Given the description of an element on the screen output the (x, y) to click on. 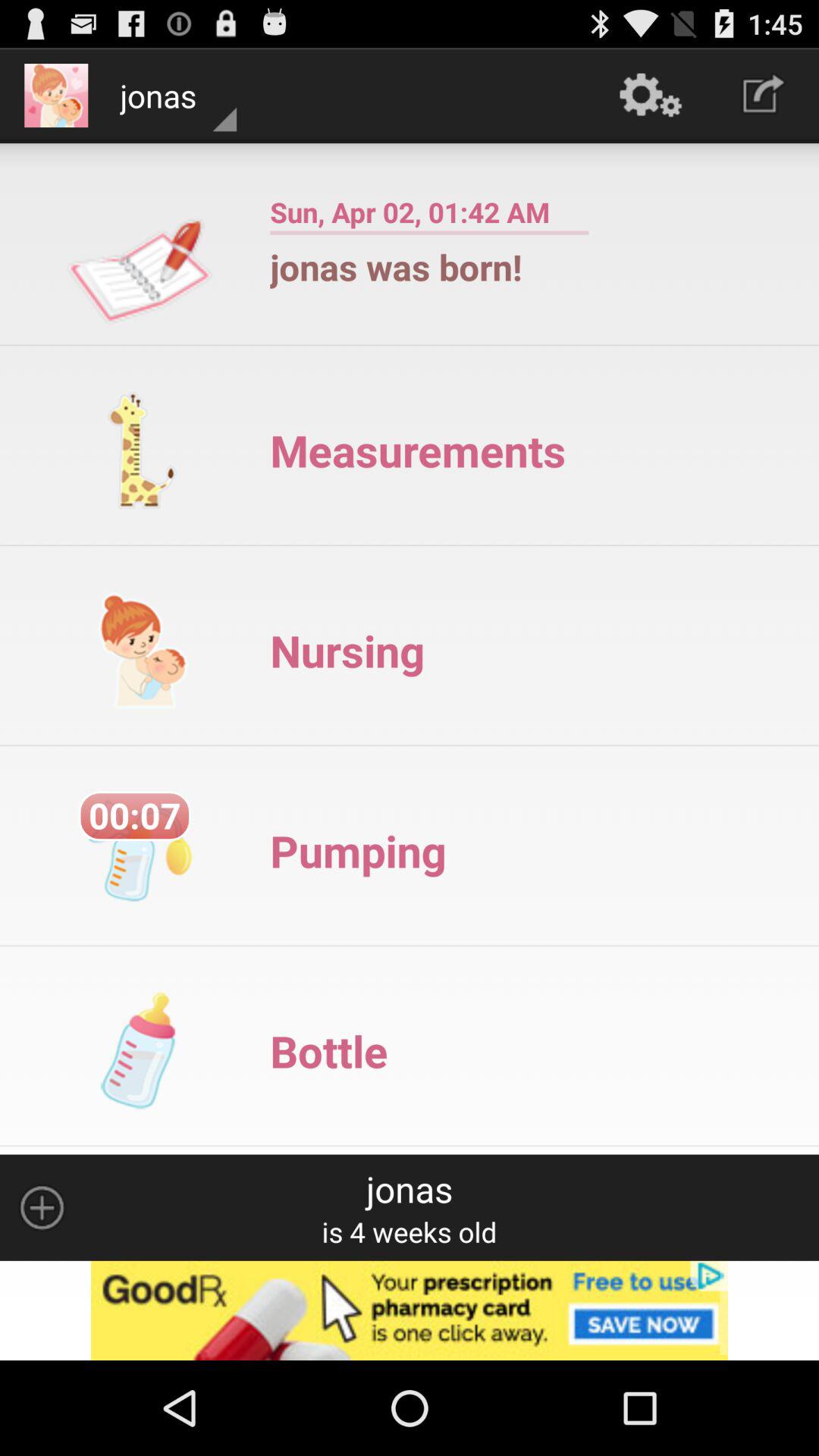
go to advertisement (409, 1310)
